Given the description of an element on the screen output the (x, y) to click on. 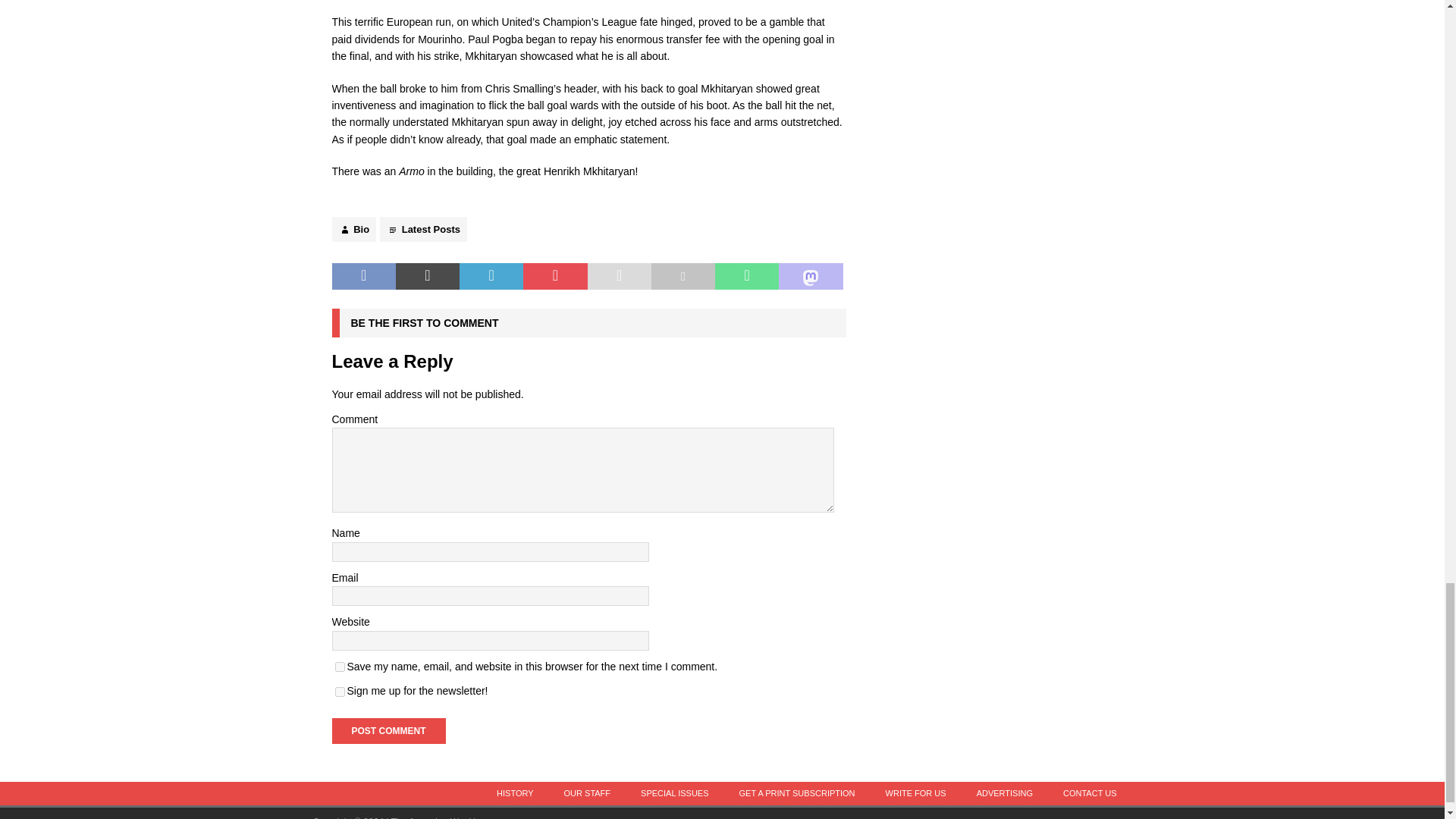
Post Comment (388, 730)
yes (339, 666)
1 (339, 691)
